Given the description of an element on the screen output the (x, y) to click on. 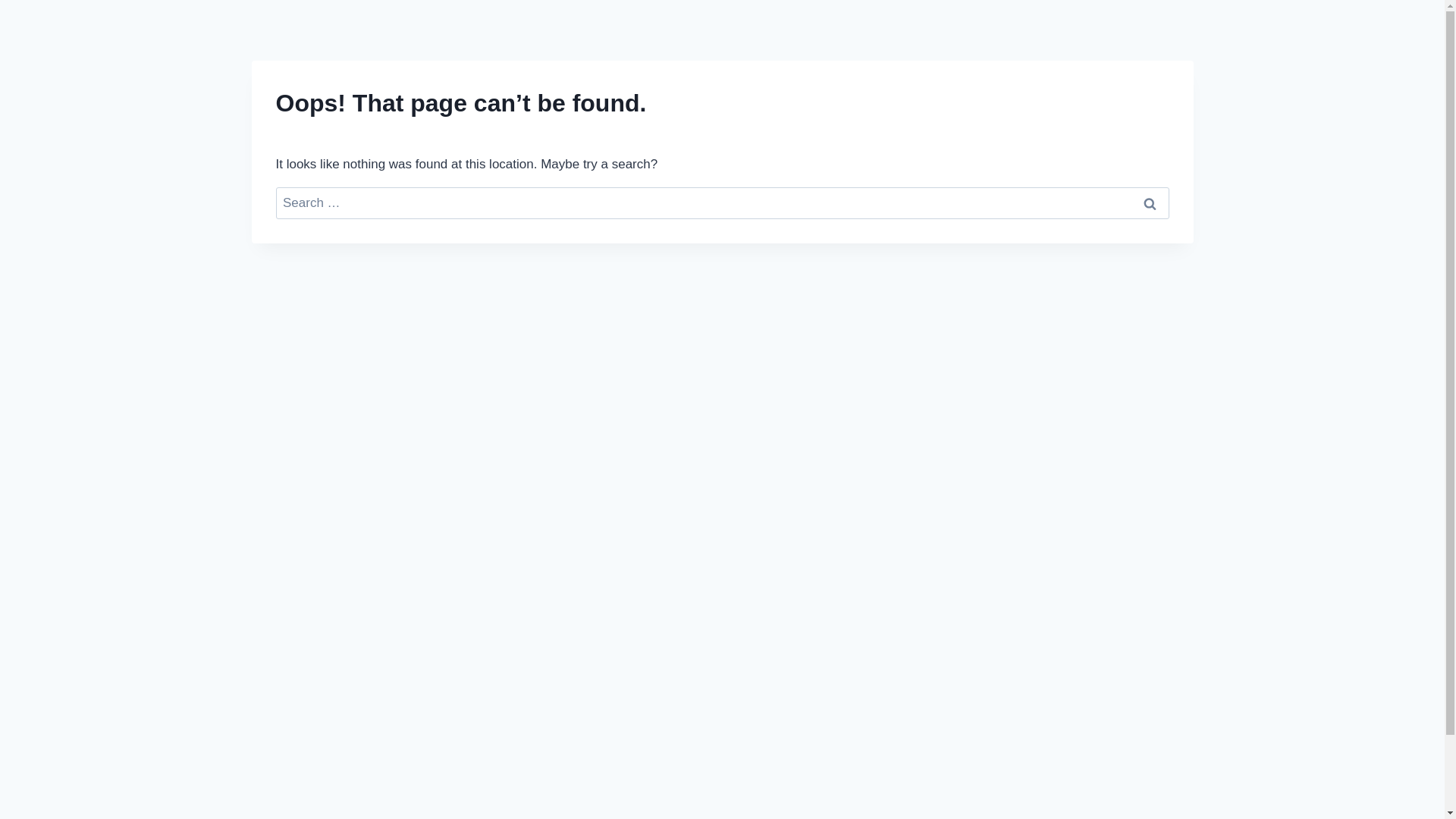
Search Element type: text (1150, 203)
